Given the description of an element on the screen output the (x, y) to click on. 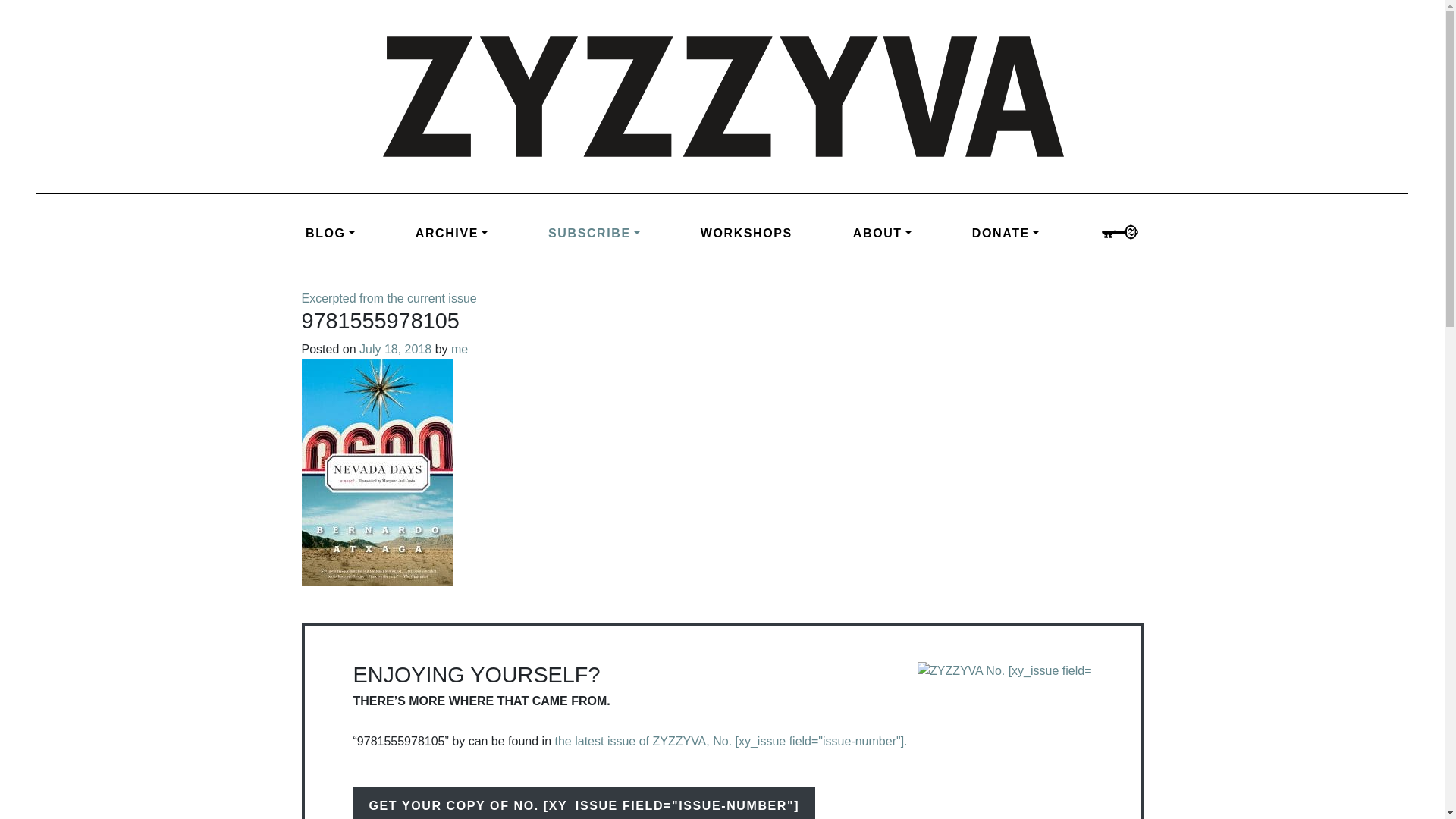
ABOUT (882, 233)
July 18, 2018 (394, 349)
DONATE (1005, 233)
WORKSHOPS (745, 233)
Blog (345, 233)
Subscribe (593, 233)
ZYZZYVA (721, 95)
BLOG (345, 233)
me (458, 349)
ARCHIVE (451, 233)
Archive (451, 233)
Excerpted from the current issue (389, 297)
SUBSCRIBE (593, 233)
